Given the description of an element on the screen output the (x, y) to click on. 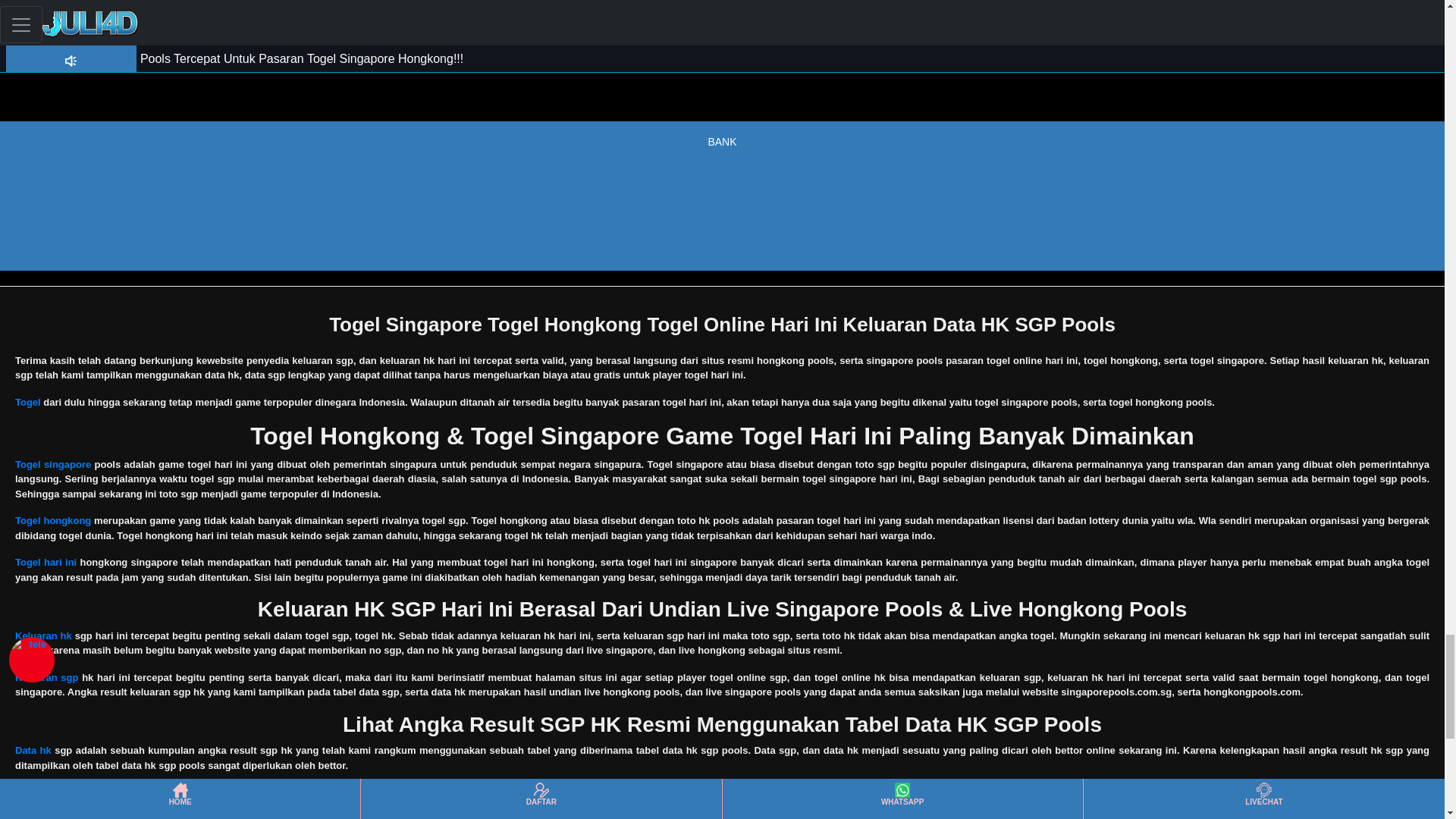
Data hk (32, 749)
Data sgp (35, 791)
Togel singapore (52, 464)
Togel (27, 401)
Keluaran sgp (46, 677)
Togel hari ini (45, 562)
Togel hongkong (52, 520)
Keluaran hk (42, 635)
